Given the description of an element on the screen output the (x, y) to click on. 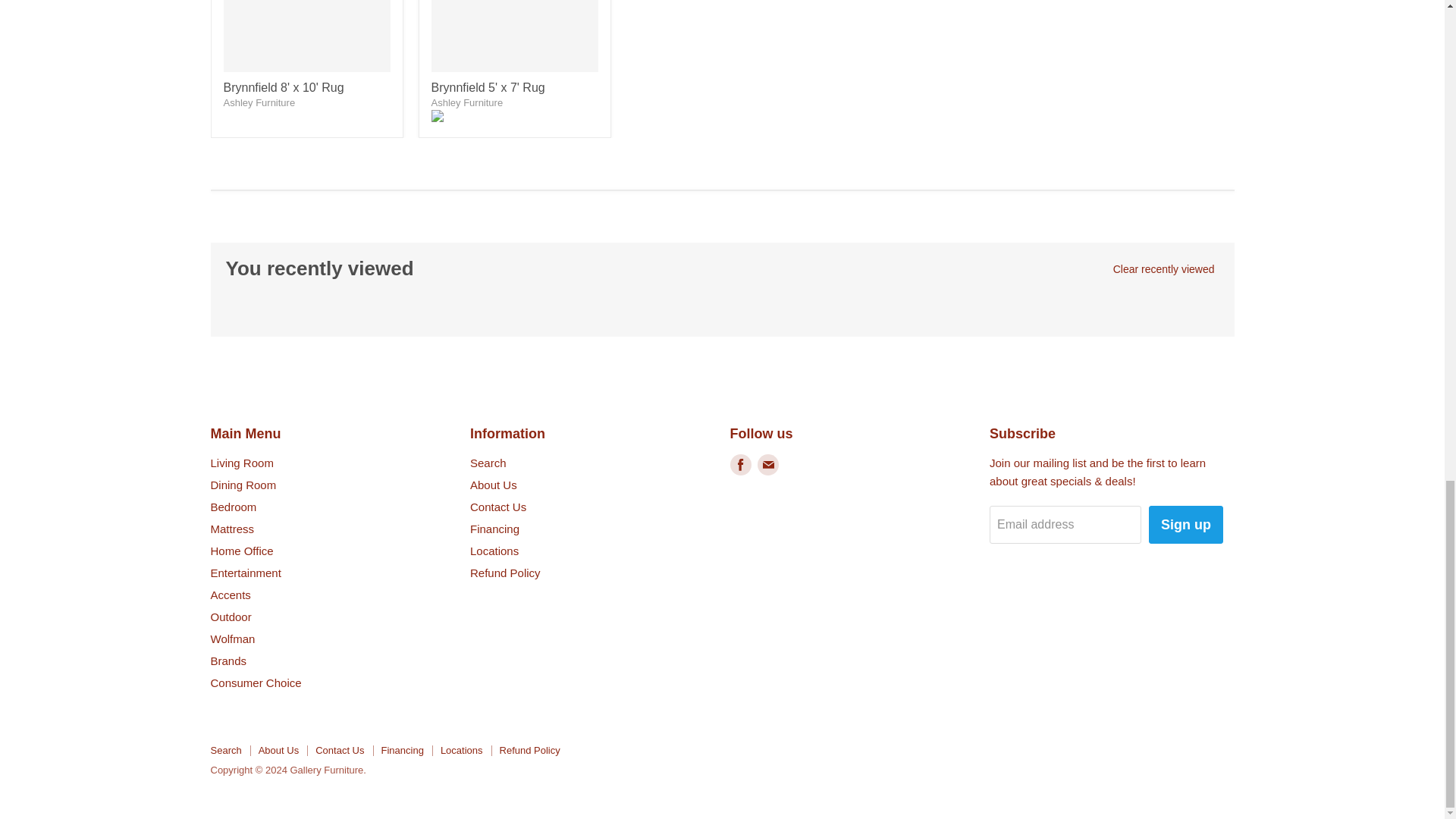
Ashley Furniture (258, 102)
Facebook (740, 464)
Ashley Furniture (466, 102)
E-mail (767, 464)
